Given the description of an element on the screen output the (x, y) to click on. 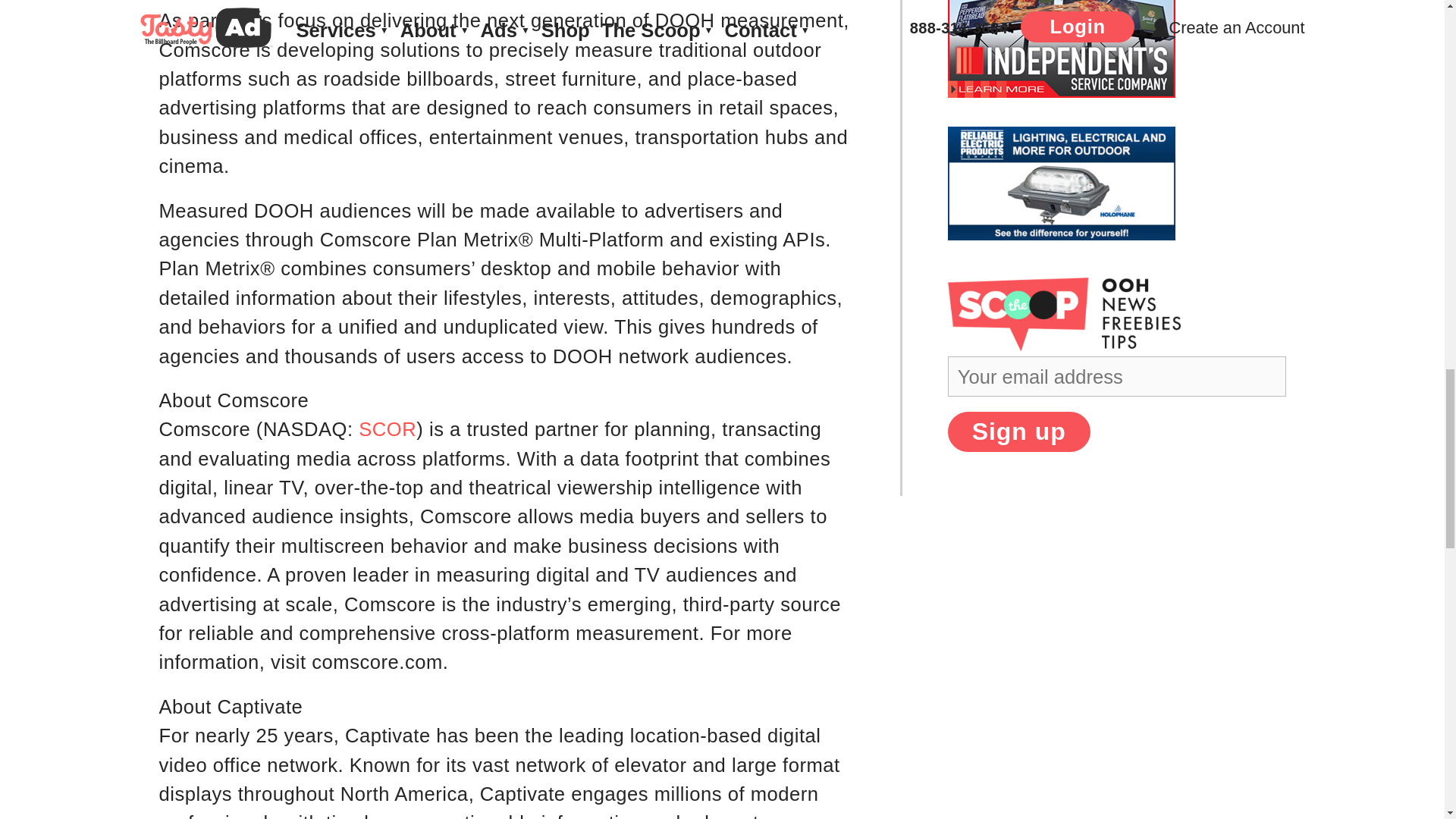
Sign up (1018, 431)
